Given the description of an element on the screen output the (x, y) to click on. 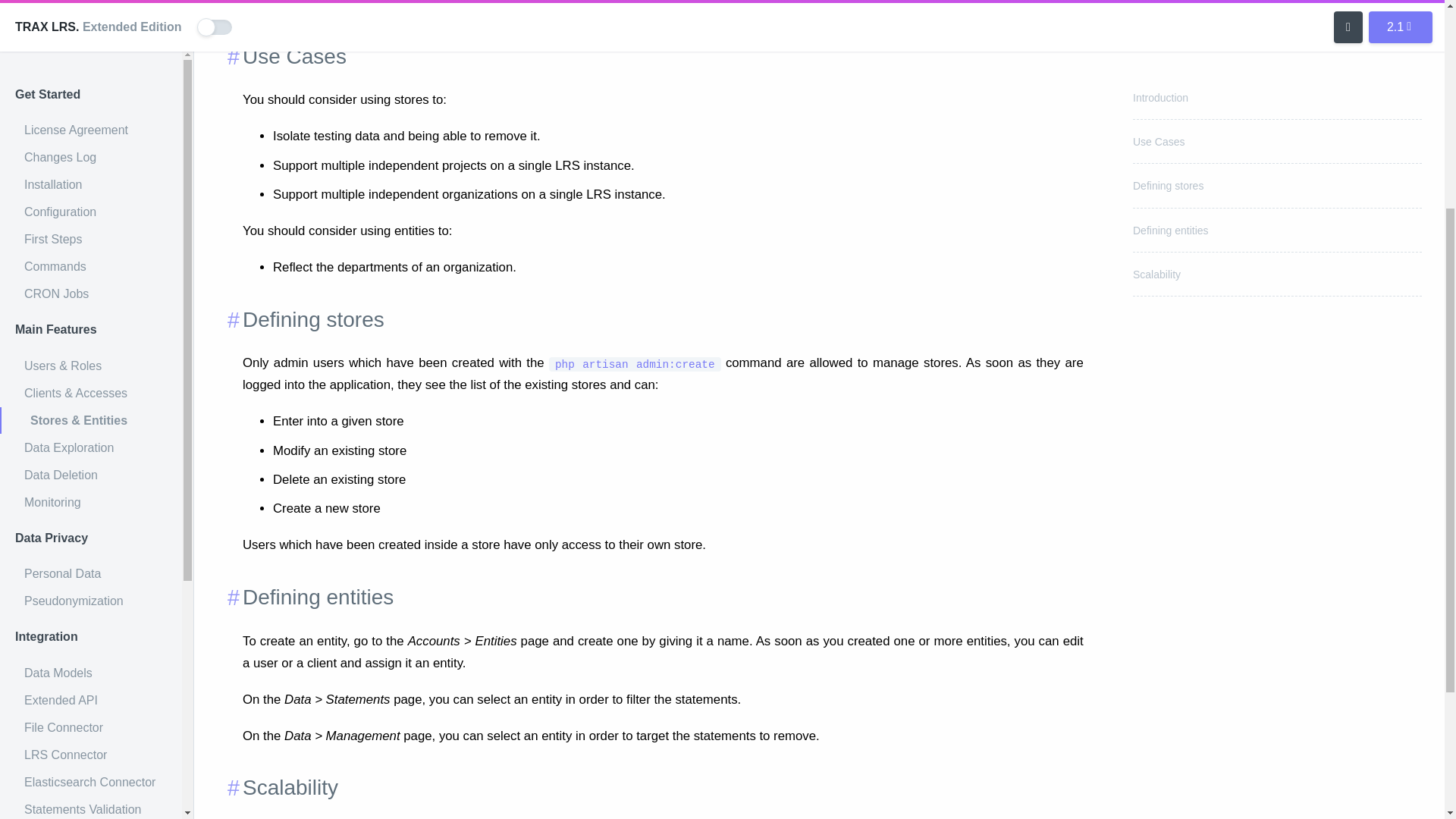
Plugins (91, 780)
Monitoring (91, 166)
Redis Cache (91, 600)
CMI5 (91, 501)
File Connector (91, 392)
Personal Data (91, 238)
Seeding (91, 753)
Queues (91, 627)
Elasticsearch Connector (91, 447)
Extended API (91, 365)
Statements Validation (91, 474)
Data Deletion (91, 139)
Testing (91, 726)
Pseudonymization (91, 266)
LRS Connector (91, 420)
